Given the description of an element on the screen output the (x, y) to click on. 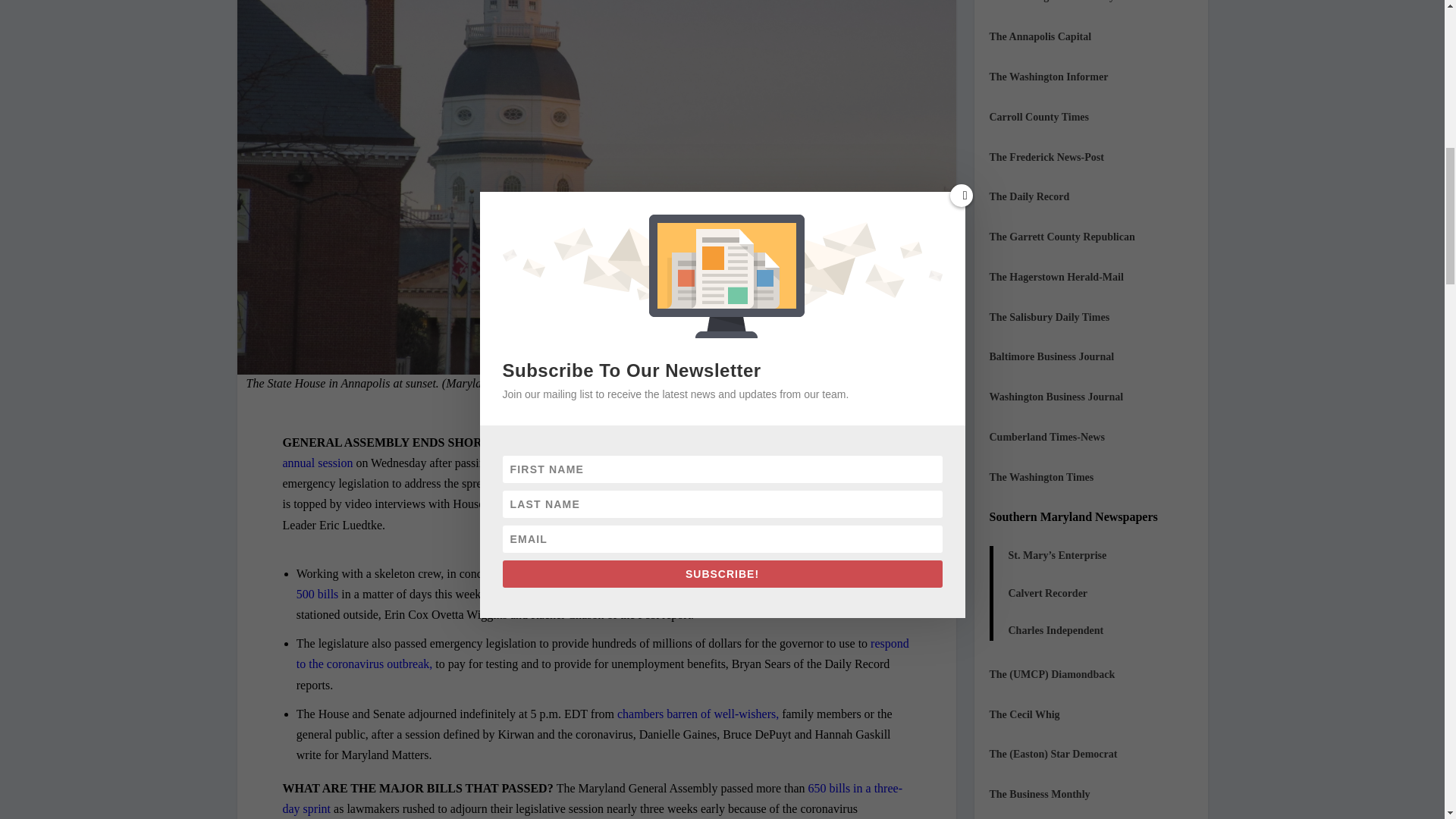
respond to the coronavirus outbreak, (602, 653)
188 lawmakers passed about 500 bills (601, 583)
lawmakers cut short their annual session (594, 452)
650 bills in a three-day sprint (591, 798)
chambers barren of well-wishers, (697, 713)
